Given the description of an element on the screen output the (x, y) to click on. 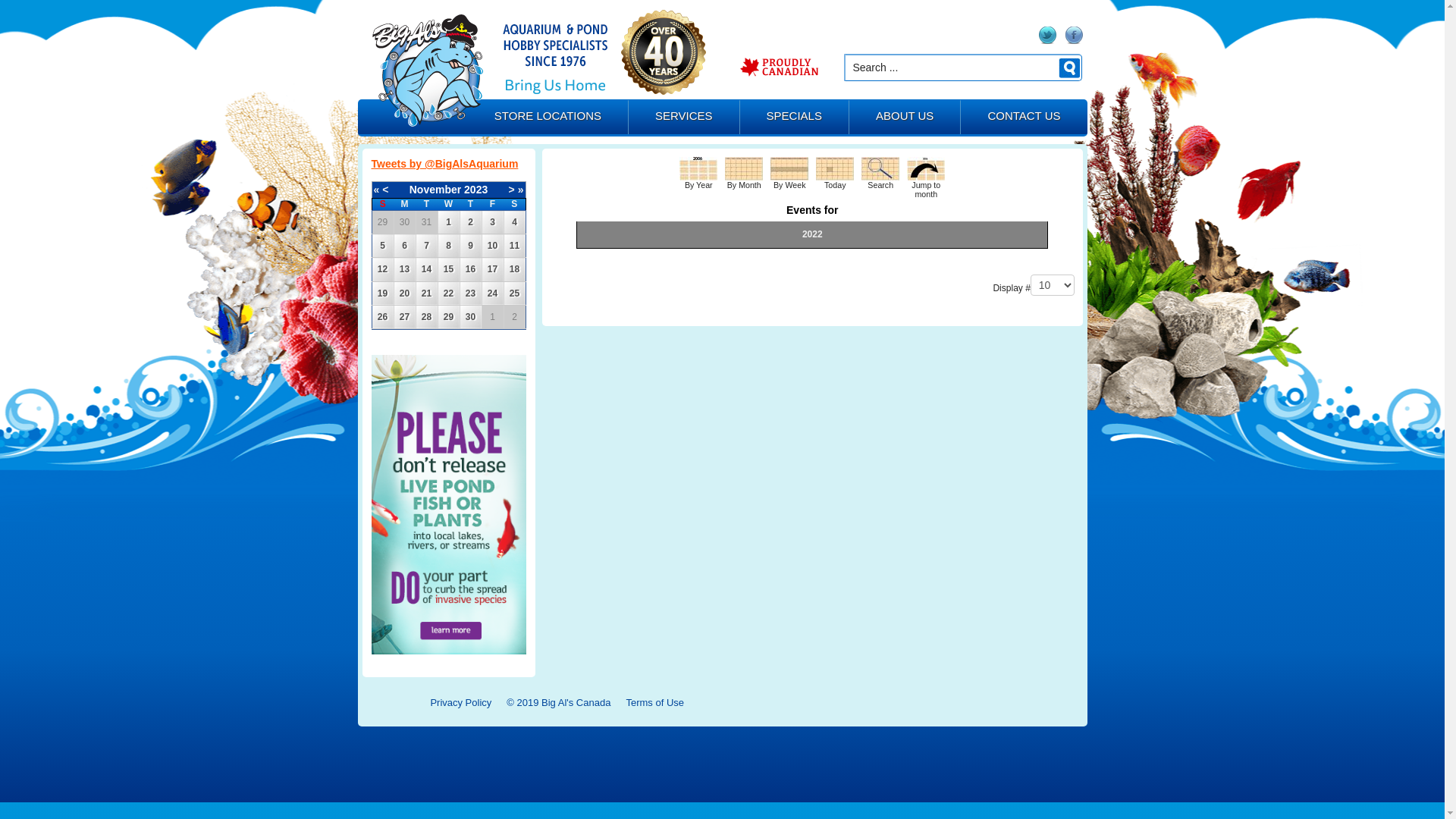
5 Element type: text (382, 245)
6 Element type: text (404, 245)
9 Element type: text (470, 245)
24 Element type: text (492, 293)
3 Element type: text (492, 221)
16 Element type: text (470, 268)
26 Element type: text (382, 316)
7 Element type: text (426, 245)
ABOUT US Element type: text (904, 117)
By Year Element type: hover (698, 168)
By Week Element type: hover (789, 168)
November Element type: text (435, 189)
Big Al's Canada Element type: hover (427, 70)
12 Element type: text (382, 268)
STORE LOCATIONS Element type: text (547, 117)
Tweets by @BigAlsAquarium Element type: text (444, 163)
Privacy Policy Element type: text (460, 702)
13 Element type: text (404, 268)
19 Element type: text (382, 293)
2 Element type: text (470, 221)
30 Element type: text (470, 316)
22 Element type: text (448, 293)
SPECIALS Element type: text (794, 117)
17 Element type: text (492, 268)
18 Element type: text (514, 268)
25 Element type: text (514, 293)
21 Element type: text (426, 293)
Today Element type: hover (834, 168)
SERVICES Element type: text (683, 117)
Jump to month Element type: hover (925, 168)
15 Element type: text (448, 268)
28 Element type: text (426, 316)
4 Element type: text (514, 221)
10 Element type: text (492, 245)
20 Element type: text (404, 293)
8 Element type: text (448, 245)
29 Element type: text (448, 316)
2023 Element type: text (475, 189)
11 Element type: text (514, 245)
CONTACT US Element type: text (1023, 117)
14 Element type: text (426, 268)
By Month Element type: hover (743, 168)
27 Element type: text (404, 316)
1 Element type: text (448, 221)
Terms of Use Element type: text (654, 702)
Search Element type: hover (880, 168)
23 Element type: text (470, 293)
